Given the description of an element on the screen output the (x, y) to click on. 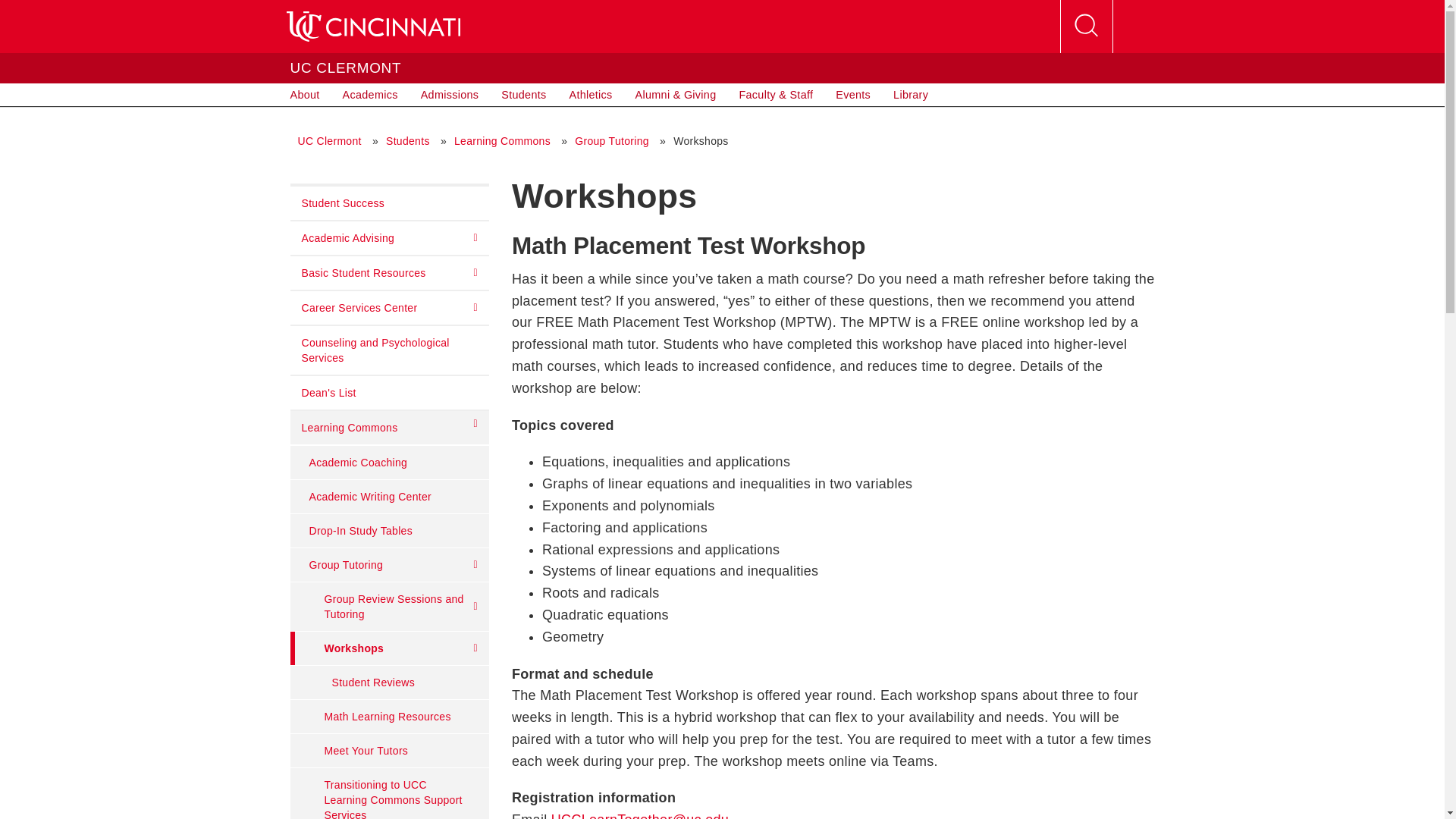
magnifying glass (1086, 26)
UC CLERMONT (345, 67)
About (305, 94)
magnifying glass (1085, 25)
